Given the description of an element on the screen output the (x, y) to click on. 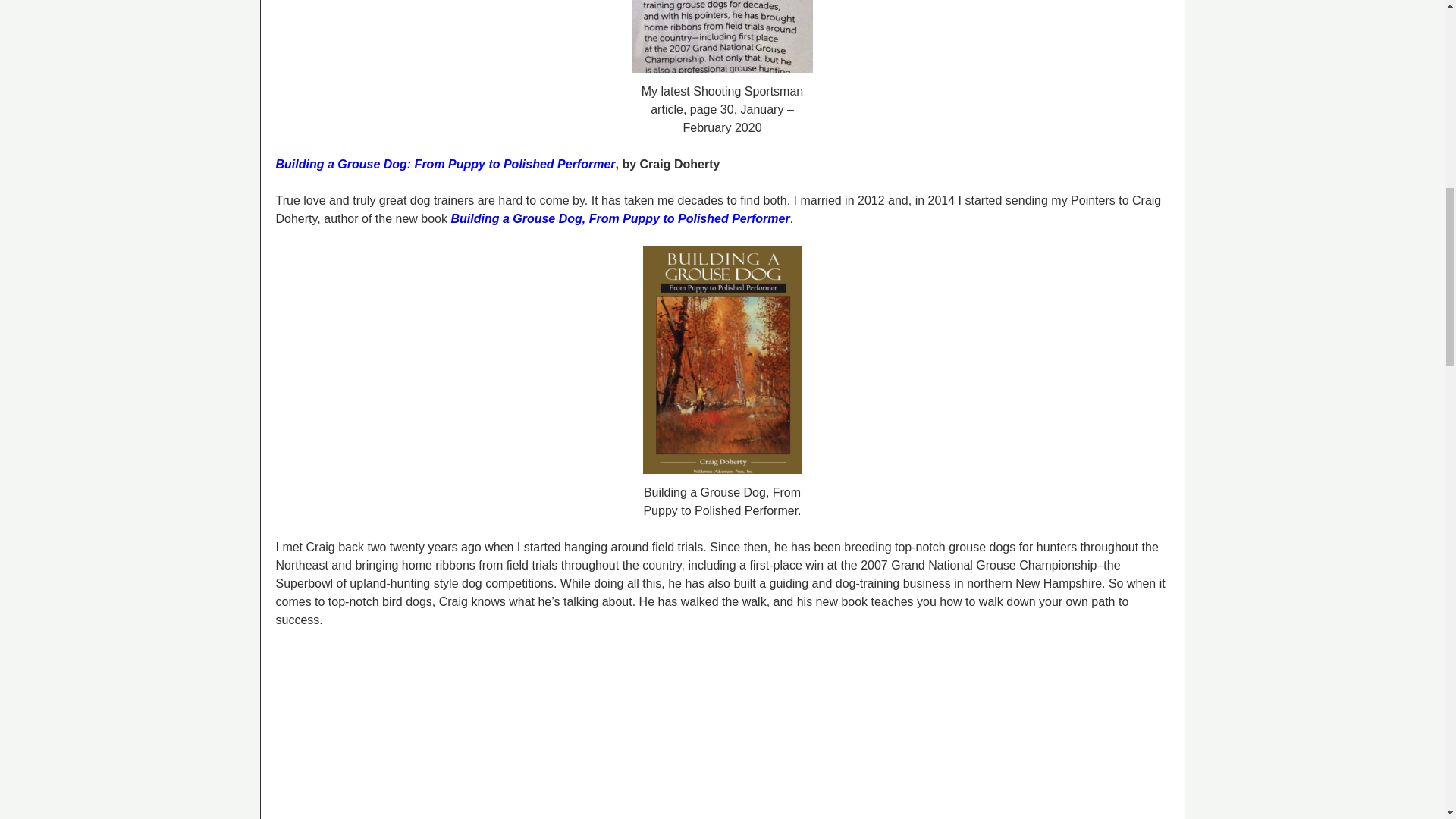
Building a Grouse Dog, From Puppy to Polished Performer (619, 218)
Building a Grouse Dog: From Puppy to Polished Performer (445, 164)
